Given the description of an element on the screen output the (x, y) to click on. 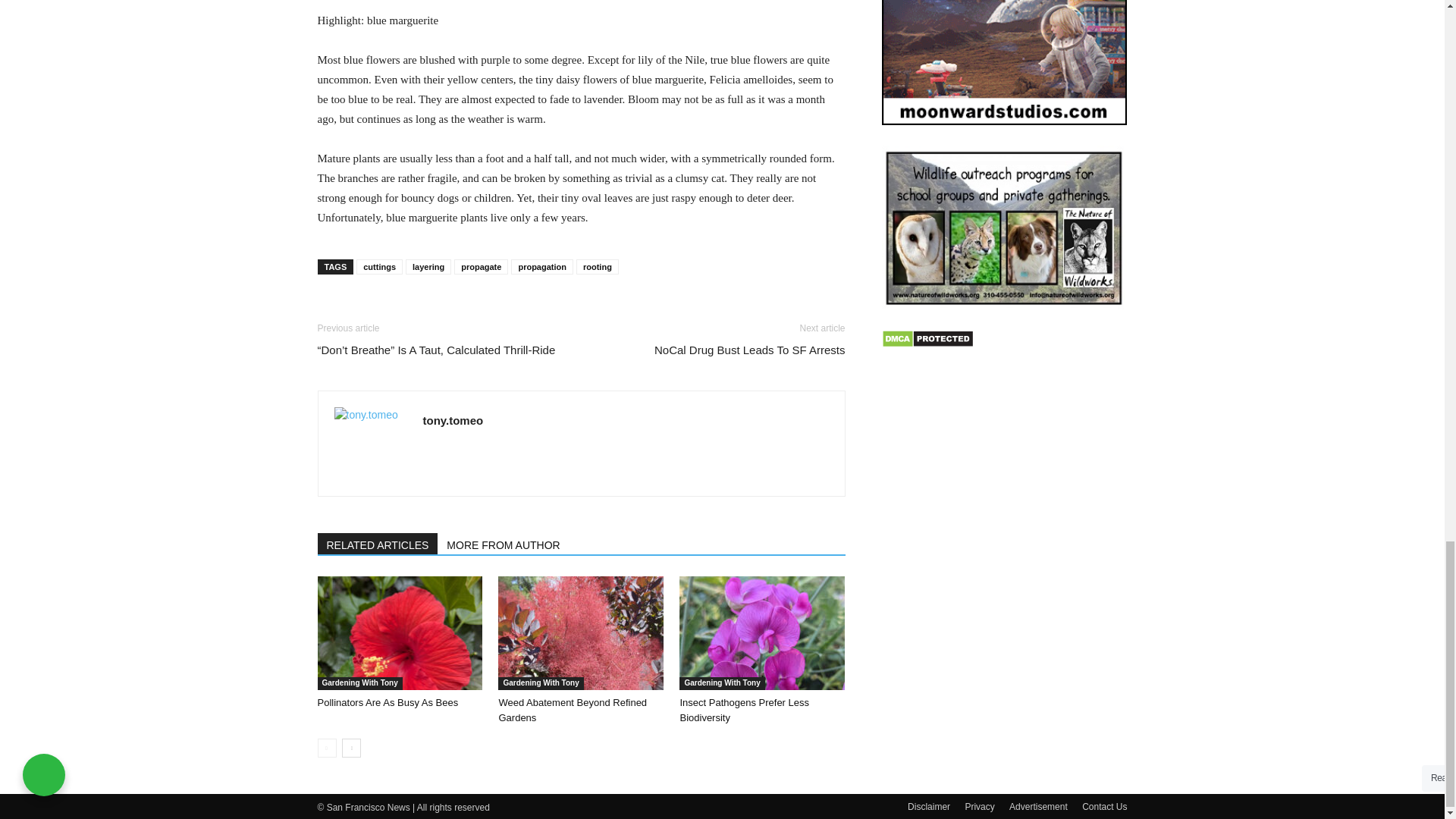
DMCA.com Protection Status (926, 344)
Weed Abatement Beyond Refined Gardens (580, 633)
Insect Pathogens Prefer Less Biodiversity (744, 709)
bottomFacebookLike (430, 308)
Weed Abatement Beyond Refined Gardens (571, 709)
Pollinators Are As Busy As Bees (399, 633)
Pollinators Are As Busy As Bees (387, 702)
Insect Pathogens Prefer Less Biodiversity (761, 633)
